Given the description of an element on the screen output the (x, y) to click on. 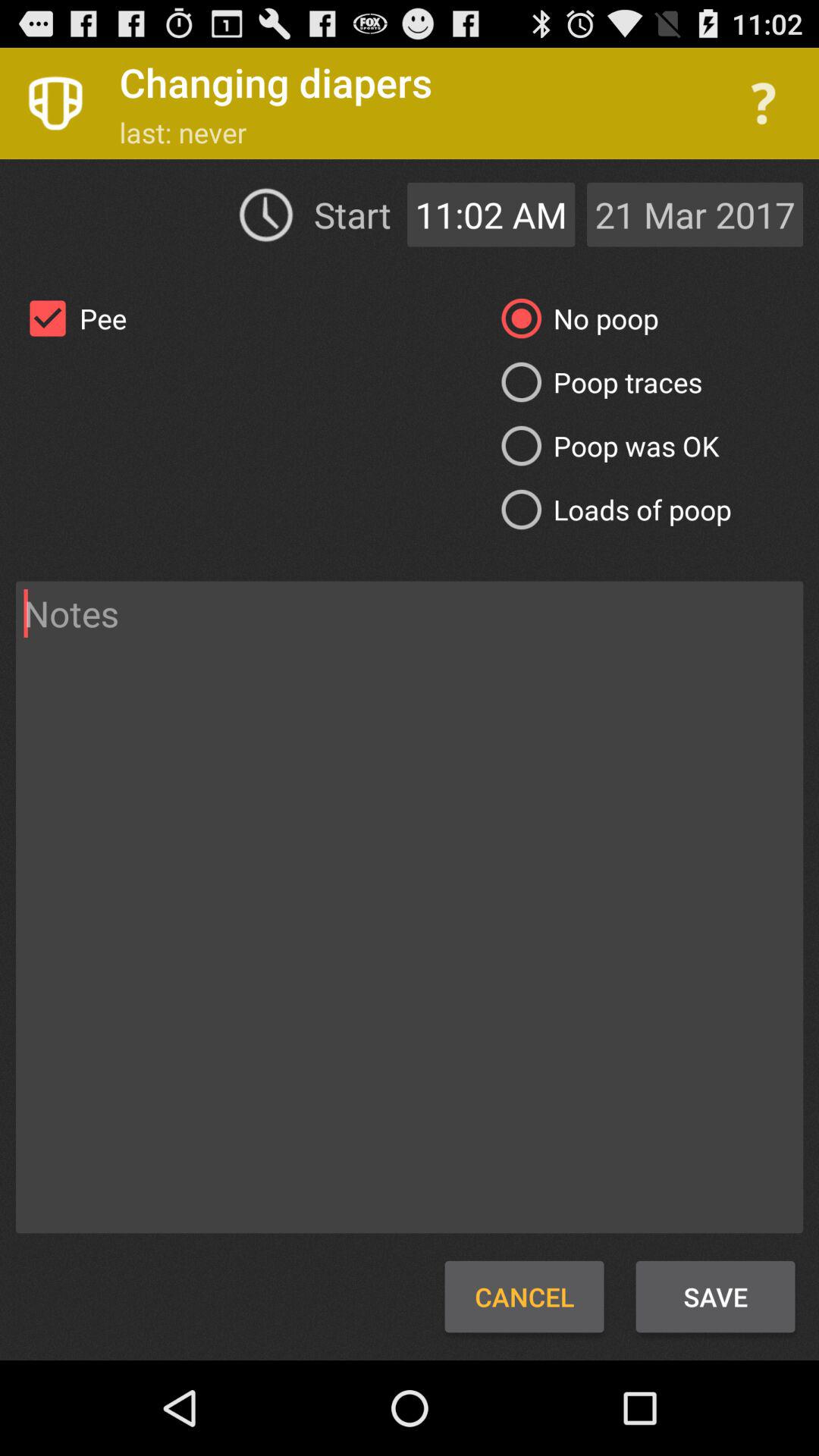
click icon below the poop traces (604, 445)
